Given the description of an element on the screen output the (x, y) to click on. 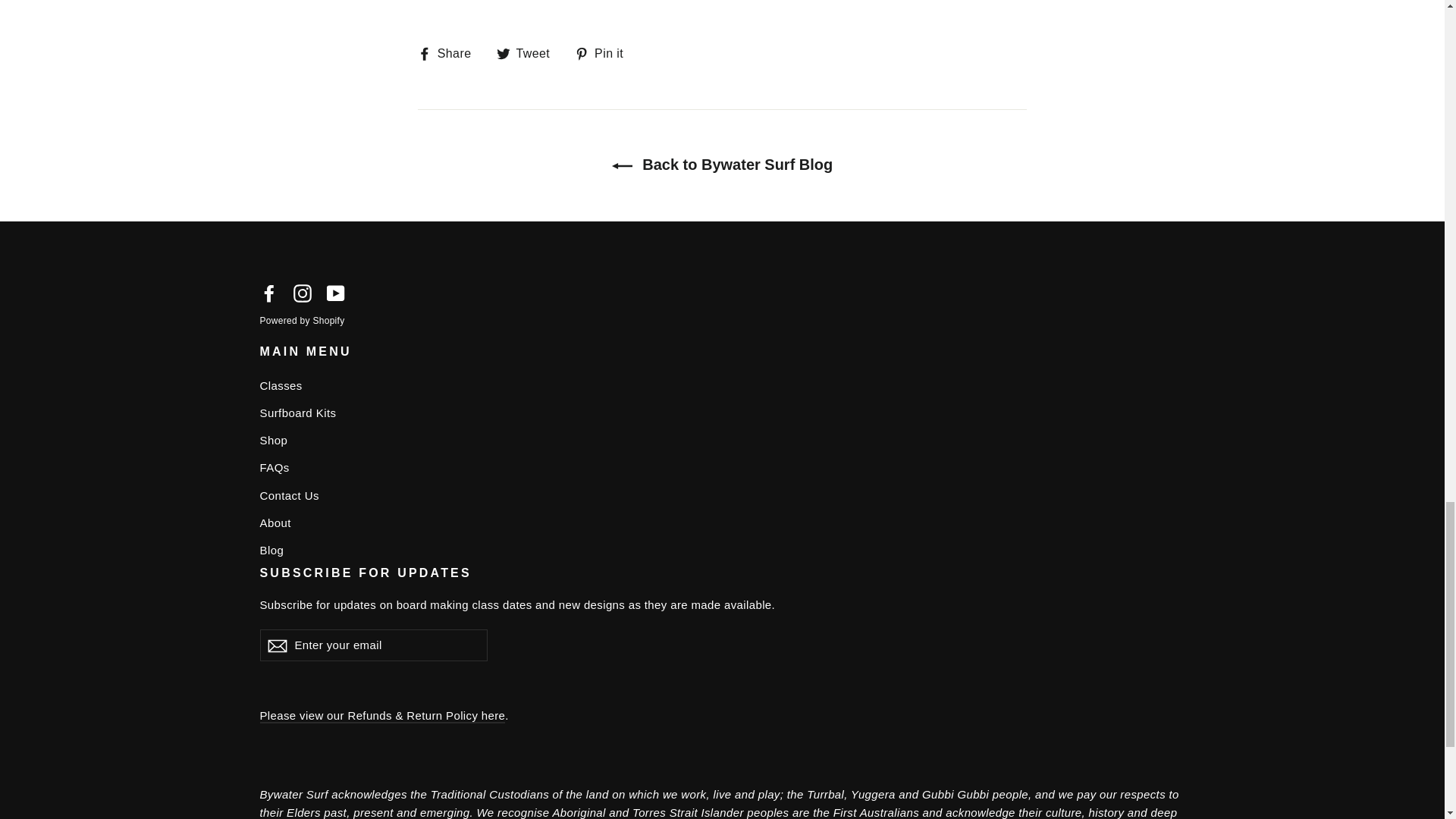
Share on Facebook (450, 53)
Wooden Surfboard from Bywater Surf on Instagram (302, 291)
Pin on Pinterest (604, 53)
Wooden Surfboard from Bywater Surf on YouTube (335, 291)
Tweet on Twitter (529, 53)
